Given the description of an element on the screen output the (x, y) to click on. 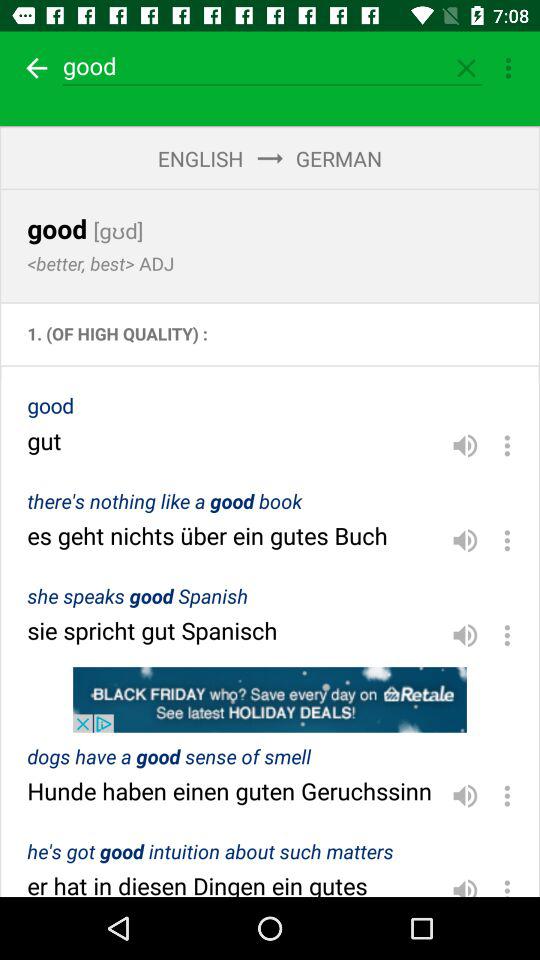
sound (465, 540)
